Given the description of an element on the screen output the (x, y) to click on. 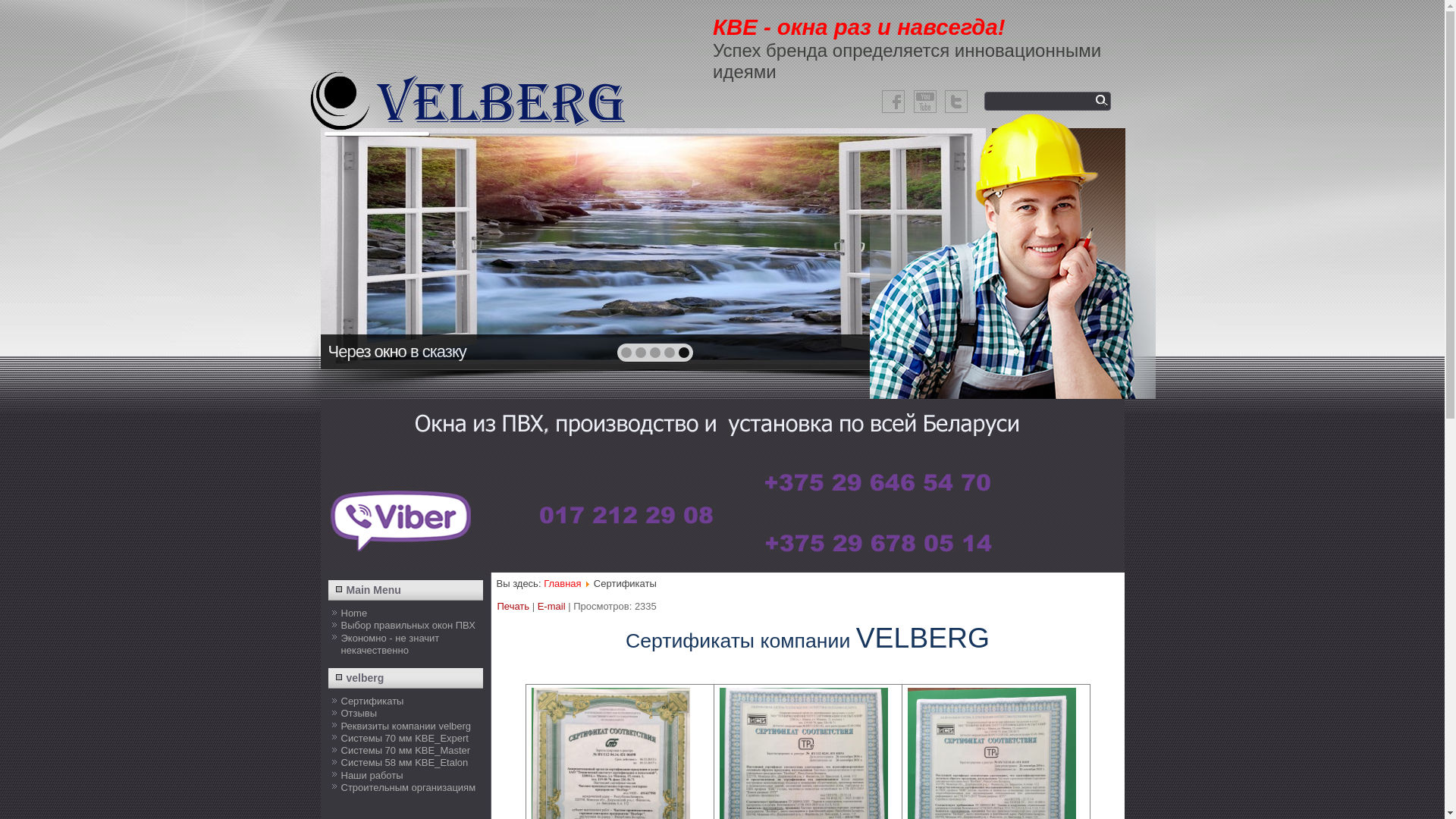
Home Element type: text (354, 612)
next Element type: text (941, 246)
E-mail Element type: text (551, 605)
prev Element type: text (364, 246)
